Given the description of an element on the screen output the (x, y) to click on. 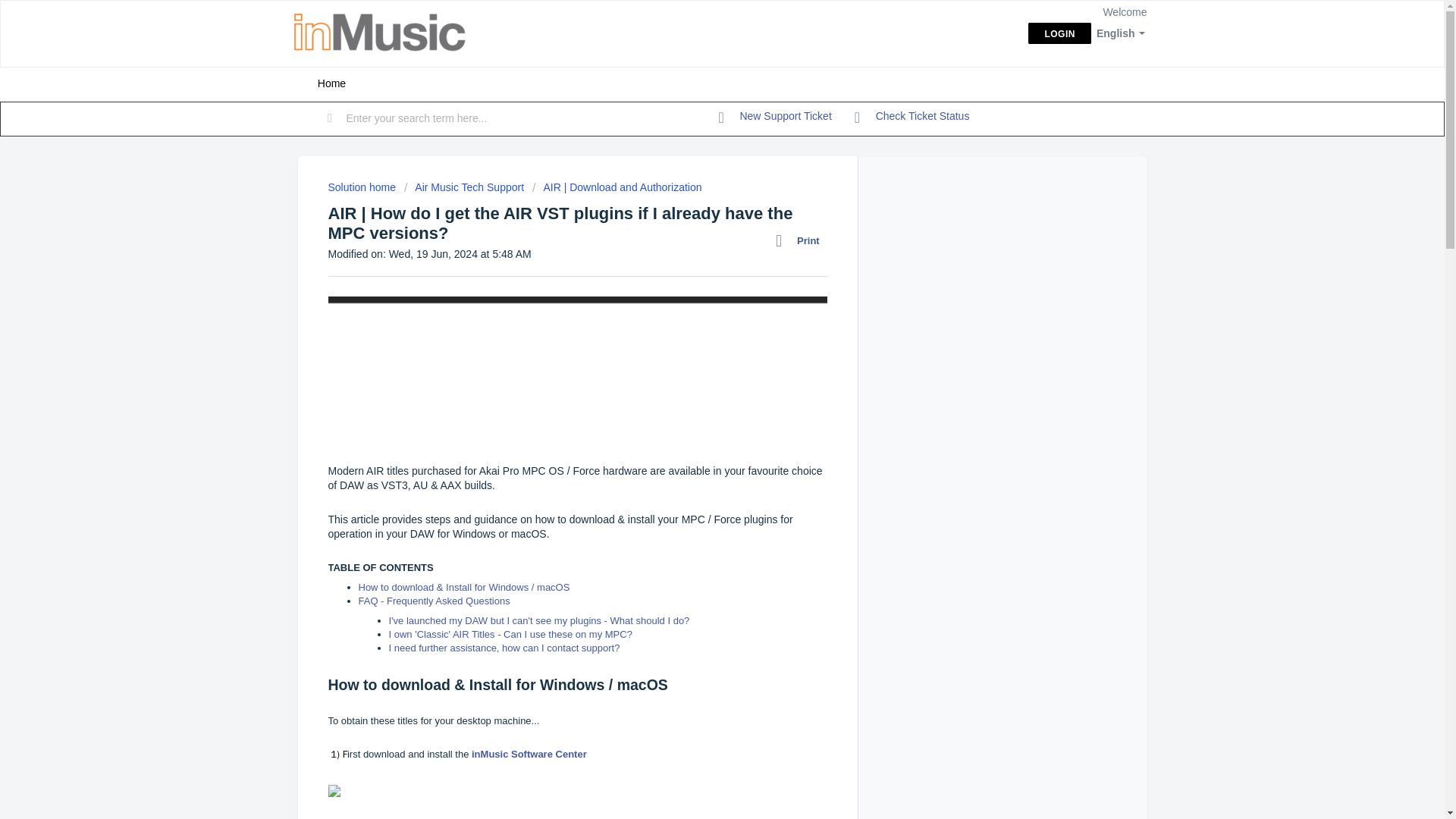
Print (801, 240)
Home (331, 83)
Air Music Tech Support (464, 186)
I need further assistance, how can I contact support? (504, 647)
I own 'Classic' AIR Titles - Can I use these on my MPC?  (511, 633)
LOGIN (1058, 33)
Solution home (362, 186)
Print this Article (801, 240)
Check ticket status (911, 116)
